Given the description of an element on the screen output the (x, y) to click on. 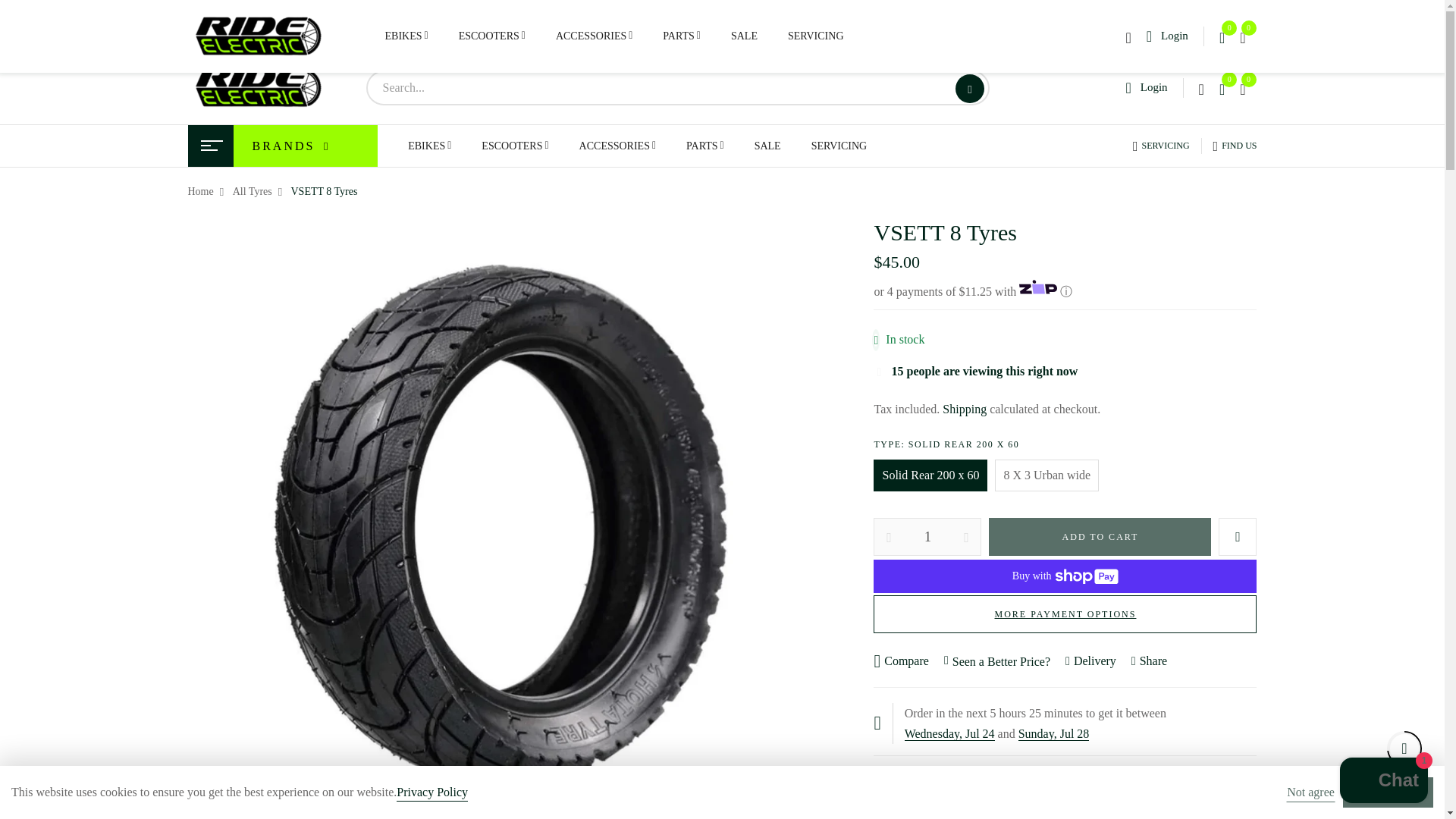
Go to the official FATFISH website (655, 25)
ESCOOTERS (491, 36)
Go to the official VSETT website (387, 25)
EBIKES (406, 34)
1 (927, 536)
Go to the official SMARTMOTION website (521, 25)
Home (200, 191)
Go to the official ZERO website (253, 25)
